Given the description of an element on the screen output the (x, y) to click on. 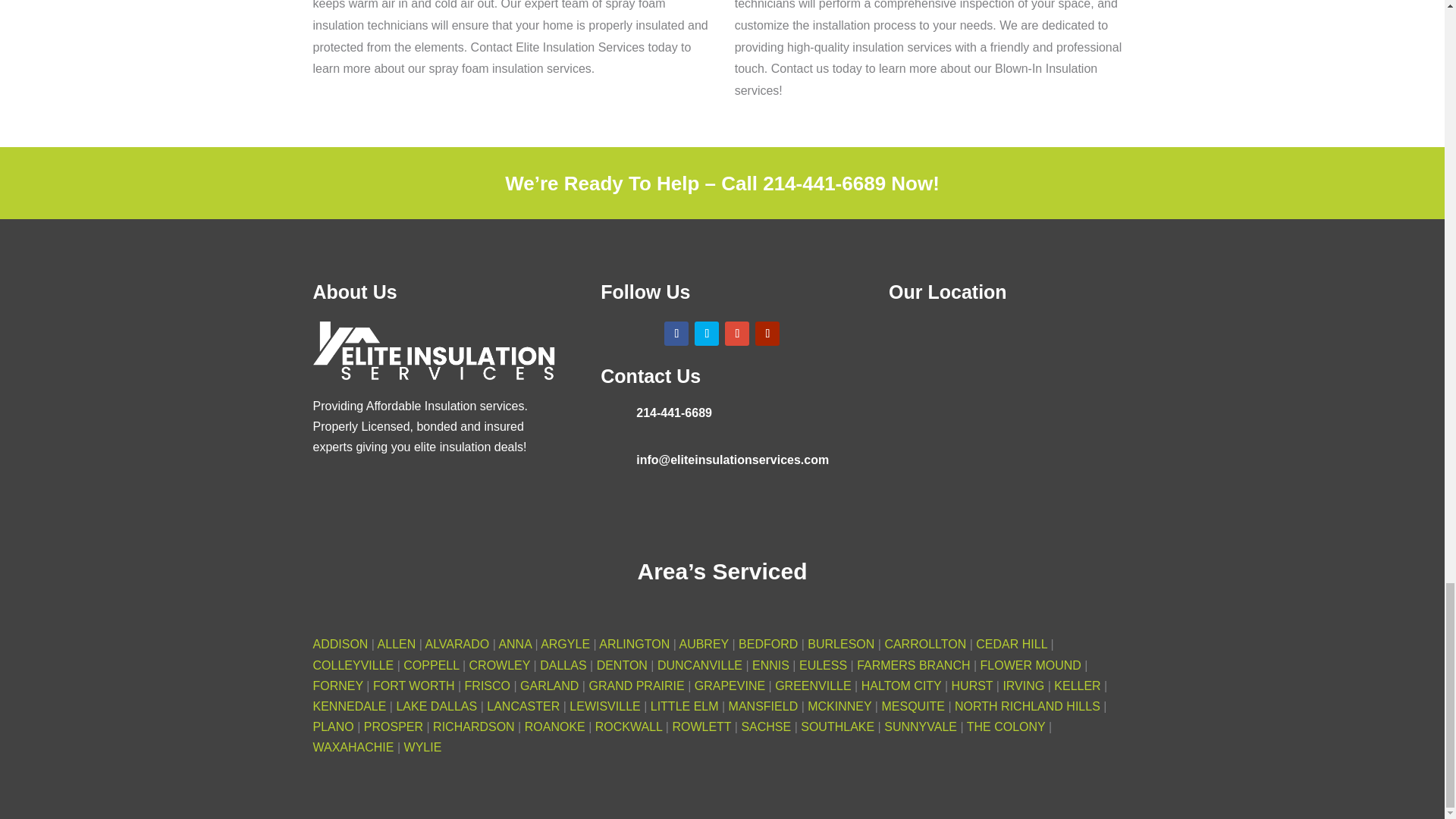
SITELOGONEW-white (433, 352)
Follow on Facebook (675, 333)
Follow on Youtube (766, 333)
Follow on Twitter (706, 333)
